Given the description of an element on the screen output the (x, y) to click on. 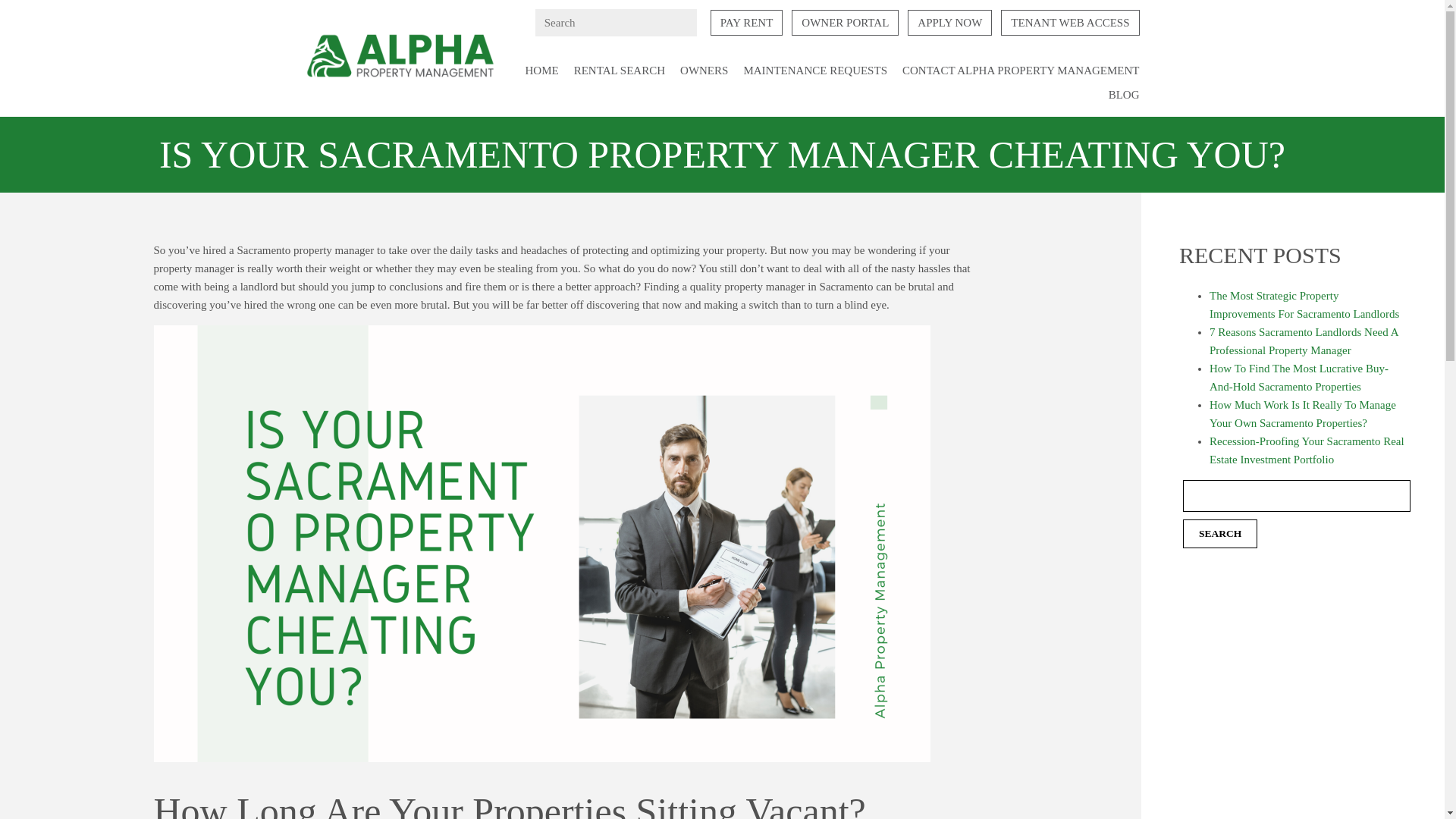
RENTAL SEARCH (619, 70)
Search (1219, 533)
Search (37, 15)
TENANT WEB ACCESS (1069, 22)
MAINTENANCE REQUESTS (814, 70)
Pay Rent (746, 22)
CONTACT ALPHA PROPERTY MANAGEMENT (1021, 70)
HOME (542, 70)
OWNER PORTAL (845, 22)
PAY RENT (746, 22)
Search (1219, 533)
